Given the description of an element on the screen output the (x, y) to click on. 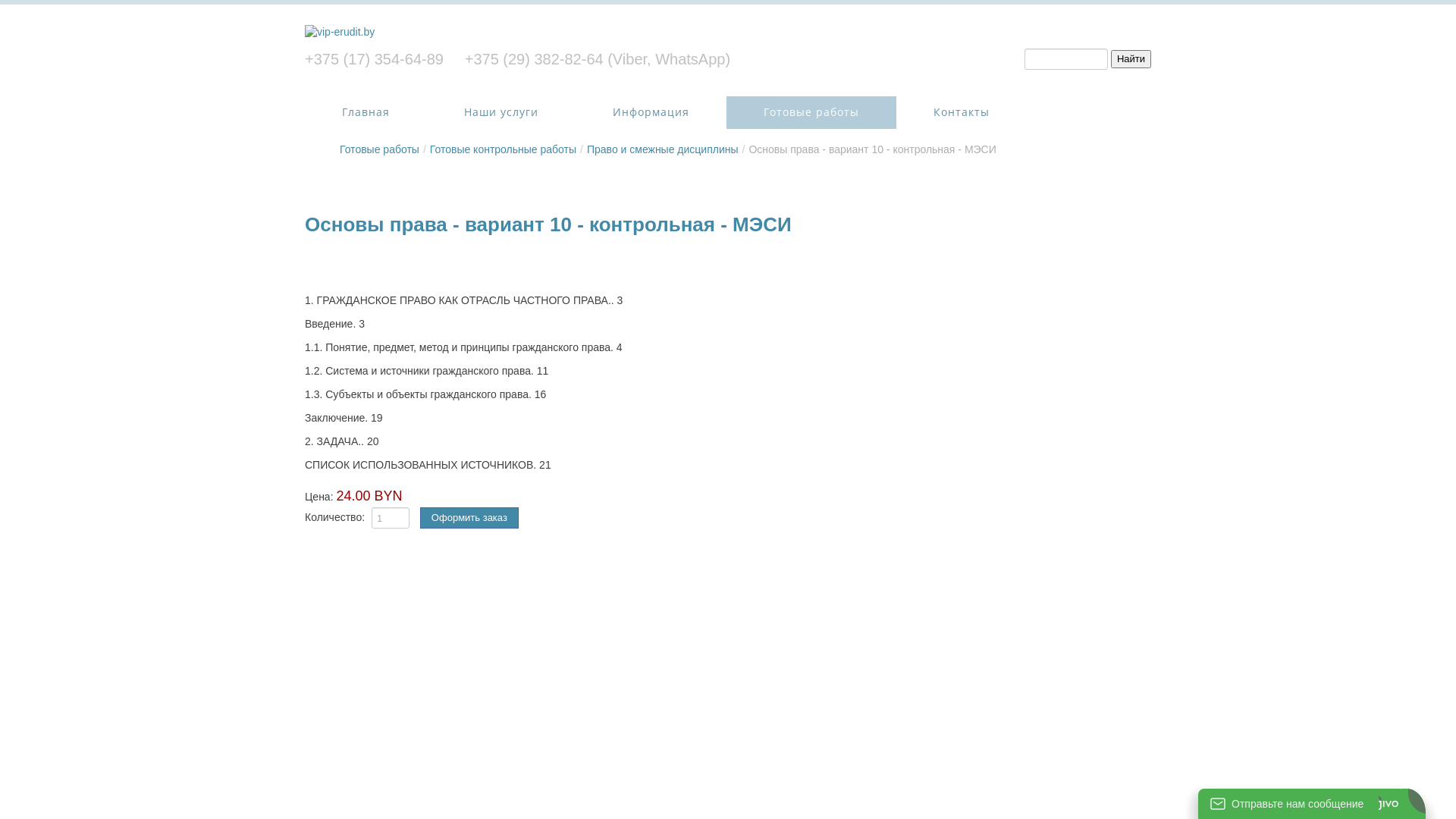
+375 (17) 354-64-89 Element type: text (373, 58)
+375 (29) 382-82-64 (Viber, WhatsApp) Element type: text (597, 58)
